Given the description of an element on the screen output the (x, y) to click on. 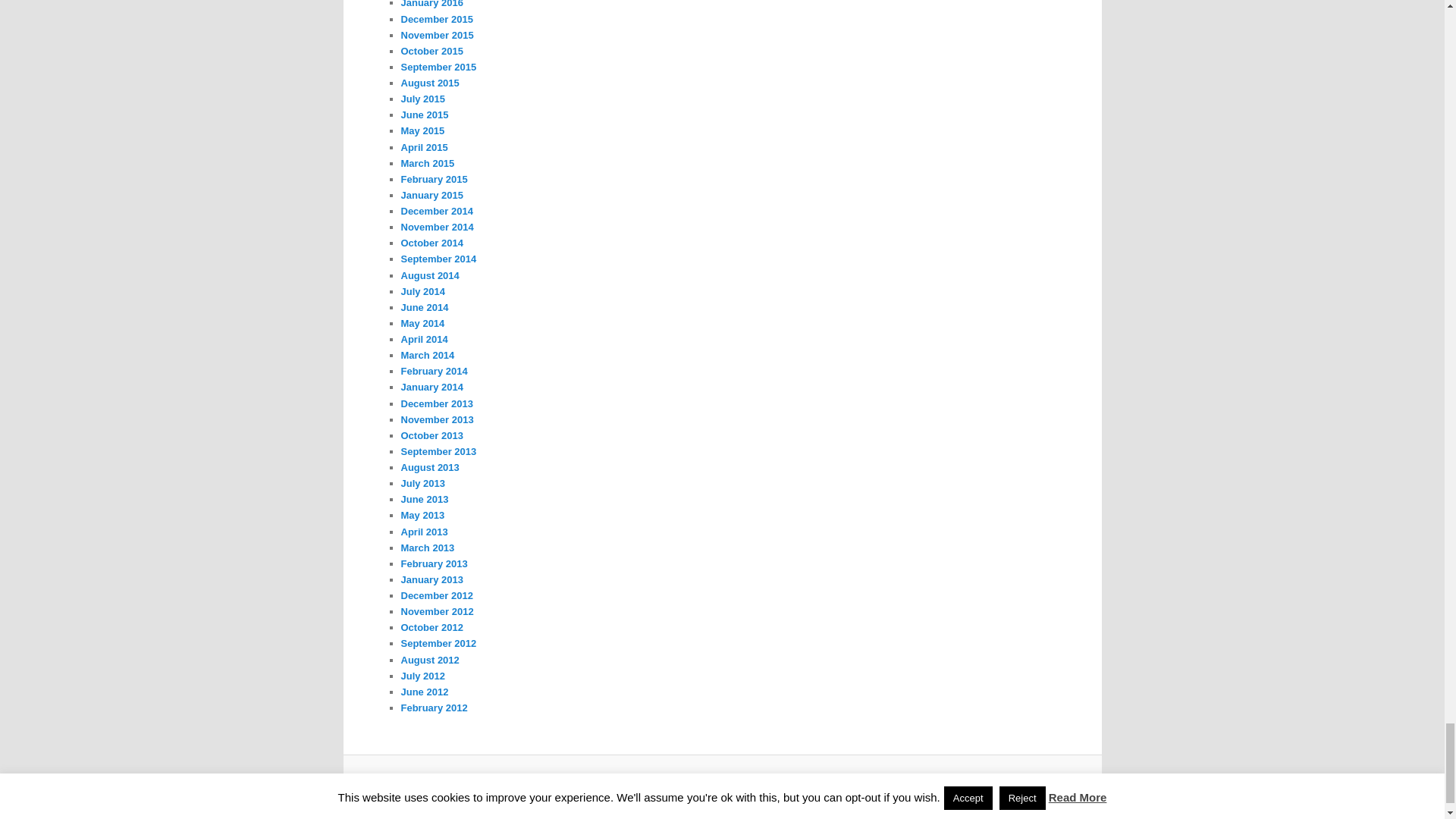
Semantic Personal Publishing Platform (749, 784)
